Given the description of an element on the screen output the (x, y) to click on. 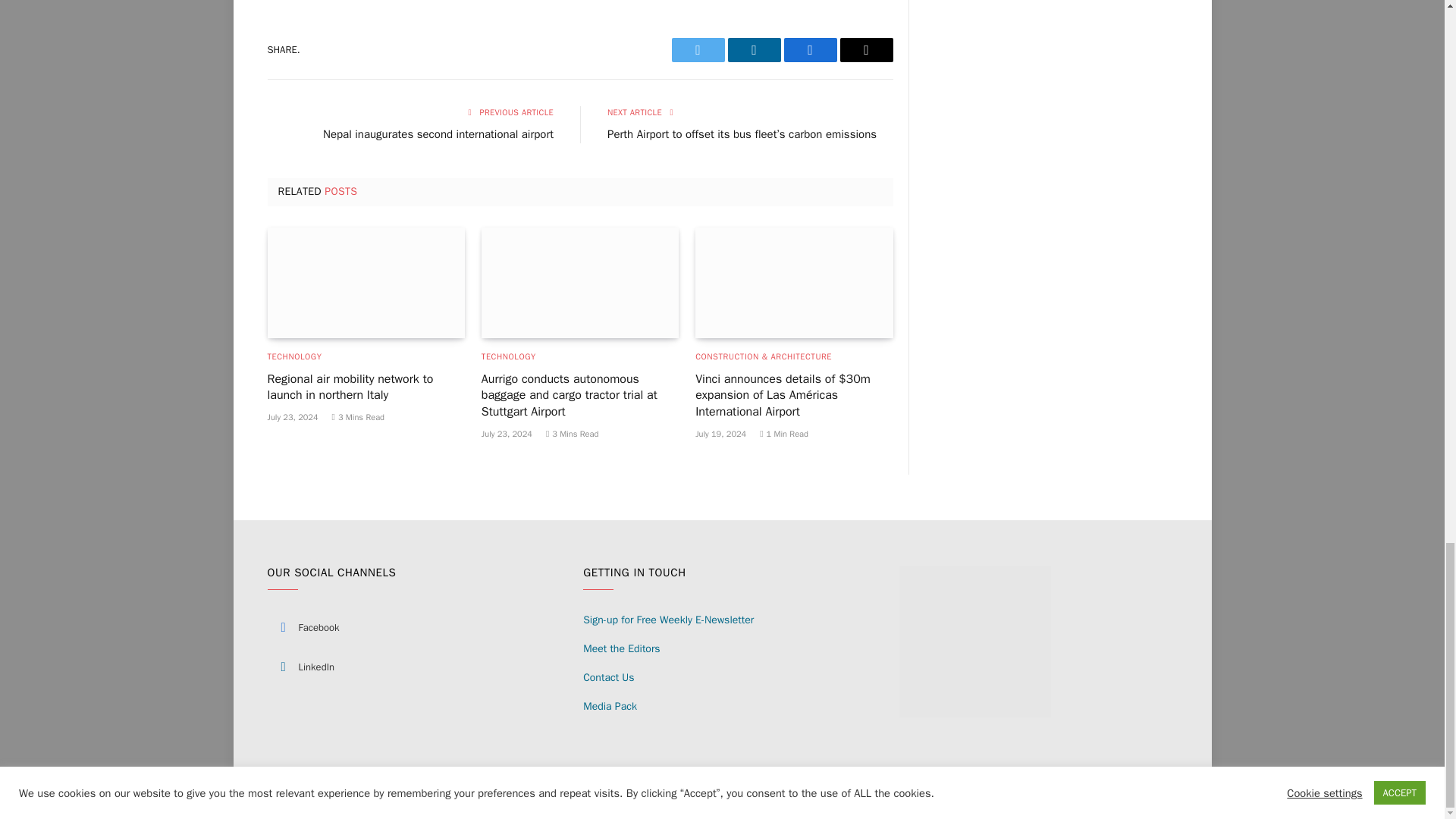
Regional air mobility network to launch in northern Italy (365, 282)
Share on LinkedIn (754, 49)
Share on Facebook (810, 49)
Share via Email (866, 49)
